Given the description of an element on the screen output the (x, y) to click on. 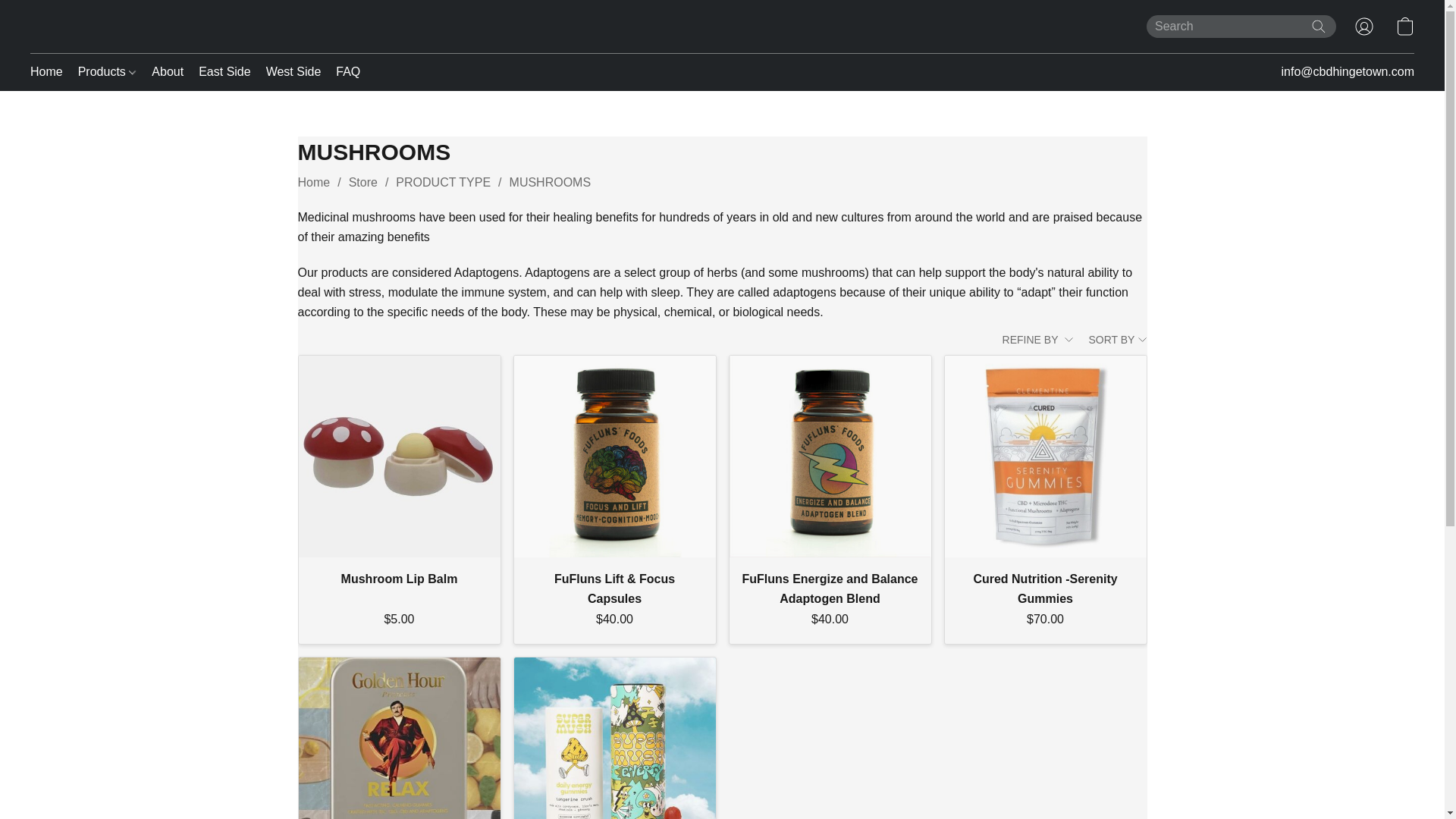
Golden Hour - Relax - Lemon Drop (399, 738)
FAQ (344, 71)
Super Mush Daily Energy Gummies (614, 738)
Store (363, 182)
Home (313, 182)
Mushroom Lip Balm (399, 578)
Cured Nutrition -Serenity Gummies (1045, 456)
Home (49, 71)
MUSHROOMS (550, 182)
Go to your shopping cart (1404, 26)
East Side (223, 71)
FuFluns Energize and Balance Adaptogen Blend (829, 456)
PRODUCT TYPE (443, 182)
Products (106, 71)
About (167, 71)
